Given the description of an element on the screen output the (x, y) to click on. 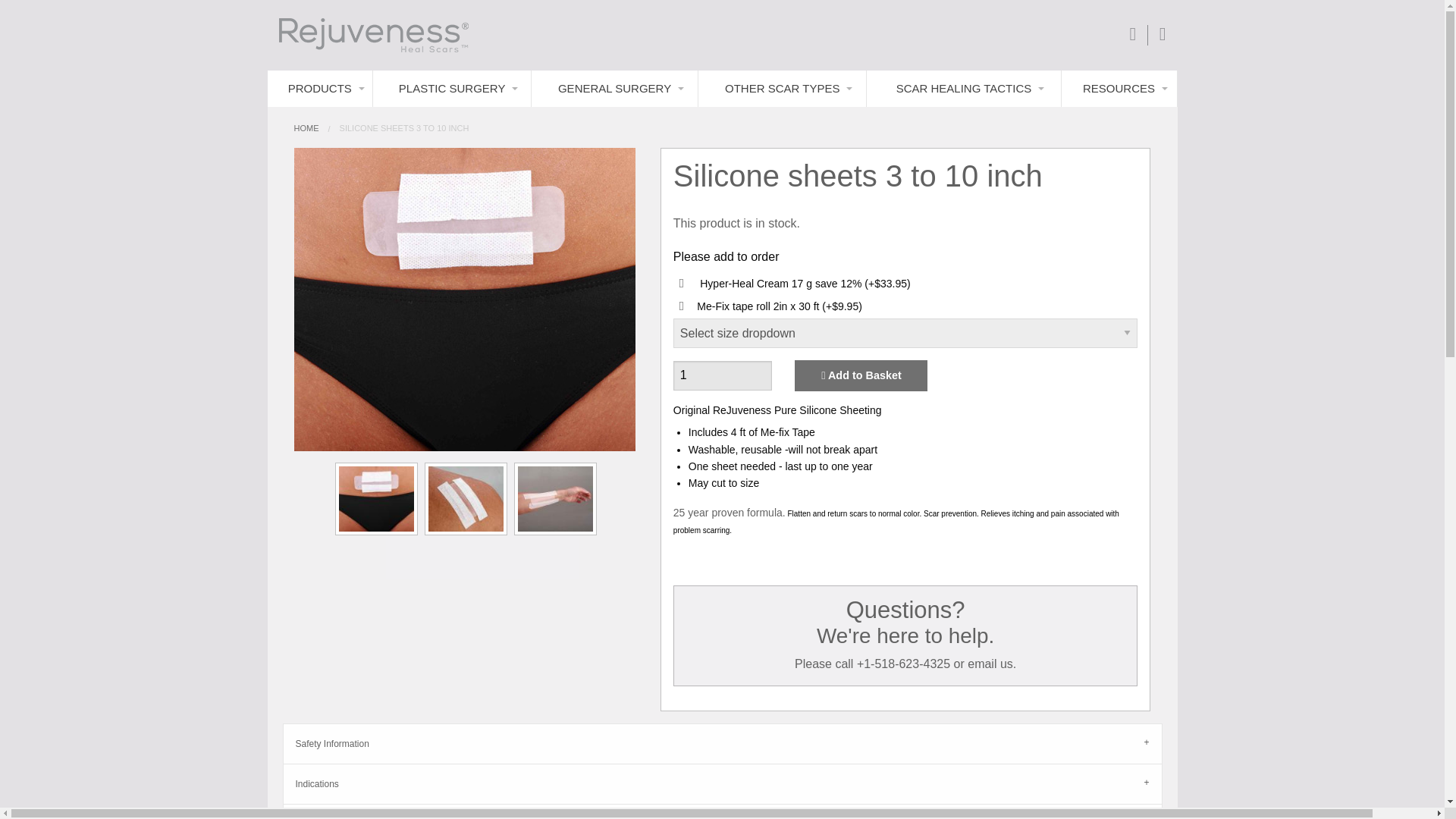
GENERAL SURGERY (614, 88)
PRODUCTS (319, 88)
OTHER SCAR TYPES (782, 88)
1 (722, 375)
PLASTIC SURGERY (451, 88)
